Given the description of an element on the screen output the (x, y) to click on. 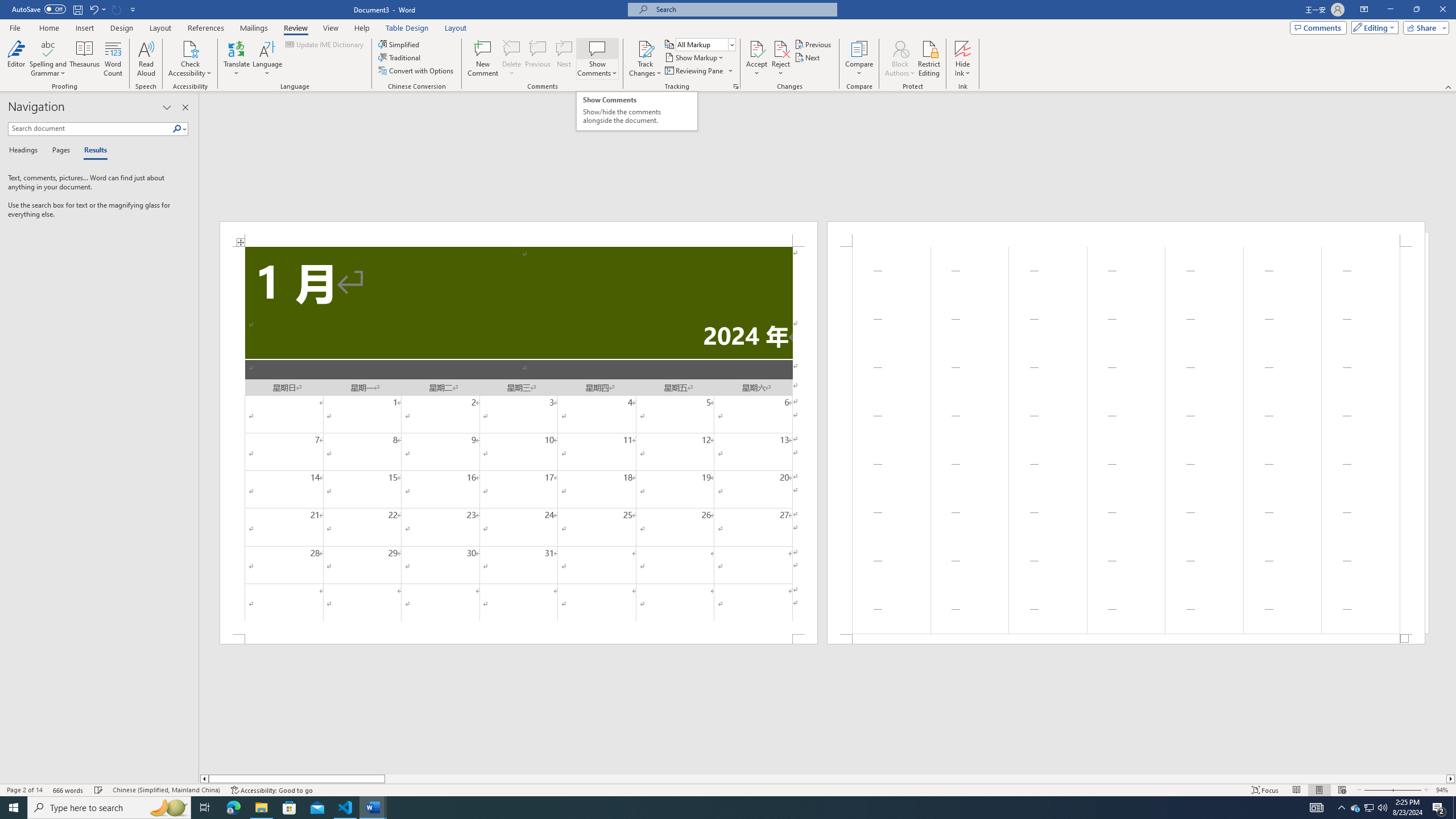
New Comment (482, 58)
Simplified (400, 44)
Accept and Move to Next (756, 48)
Reject and Move to Next (780, 48)
Page right (914, 778)
Thesaurus... (84, 58)
Column right (1450, 778)
Check Accessibility (189, 58)
Language (267, 58)
